Given the description of an element on the screen output the (x, y) to click on. 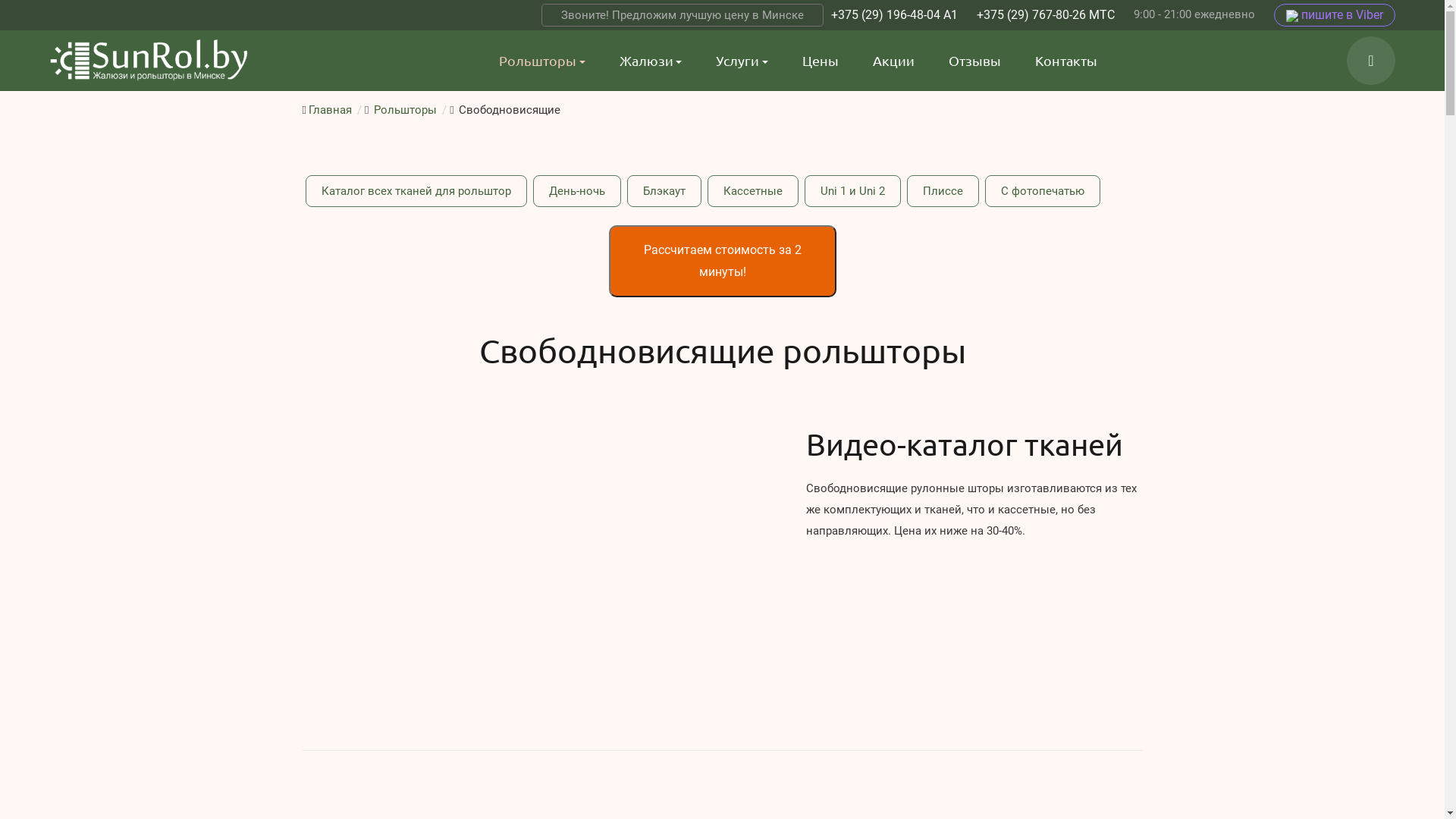
SunRol.by Element type: hover (148, 60)
